Given the description of an element on the screen output the (x, y) to click on. 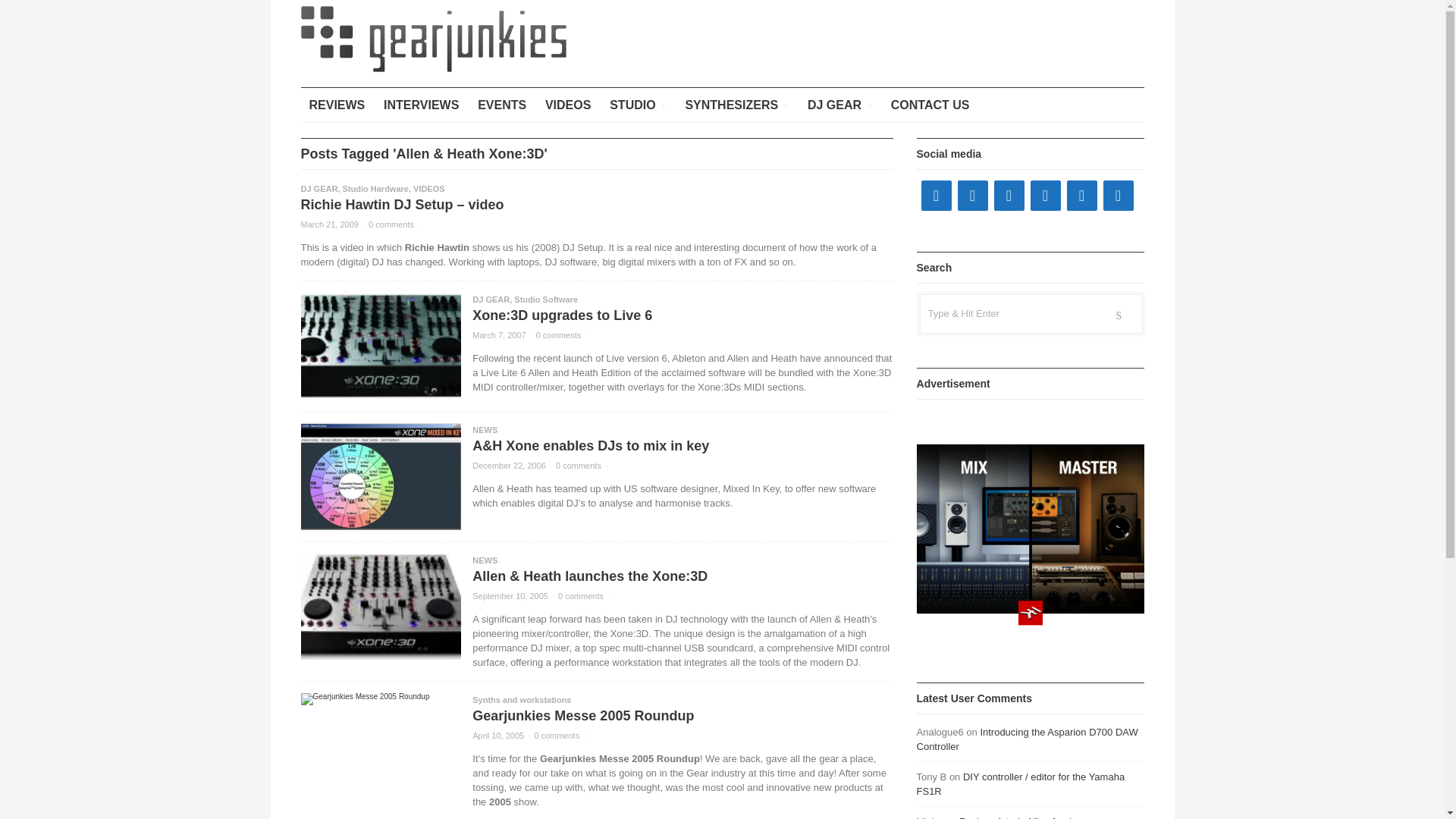
DJ GEAR (839, 104)
NEWS (484, 560)
Xone:3D upgrades to Live 6 (561, 314)
STUDIO (637, 104)
December 22, 2006 (508, 465)
0 comments (578, 465)
INTERVIEWS (421, 104)
SYNTHESIZERS (736, 104)
Studio Software (545, 298)
Twitter (971, 195)
EVENTS (501, 104)
Gearjunkies Messe 2005 Roundup (379, 698)
DJ GEAR (490, 298)
REVIEWS (335, 104)
YouTube (1007, 195)
